Given the description of an element on the screen output the (x, y) to click on. 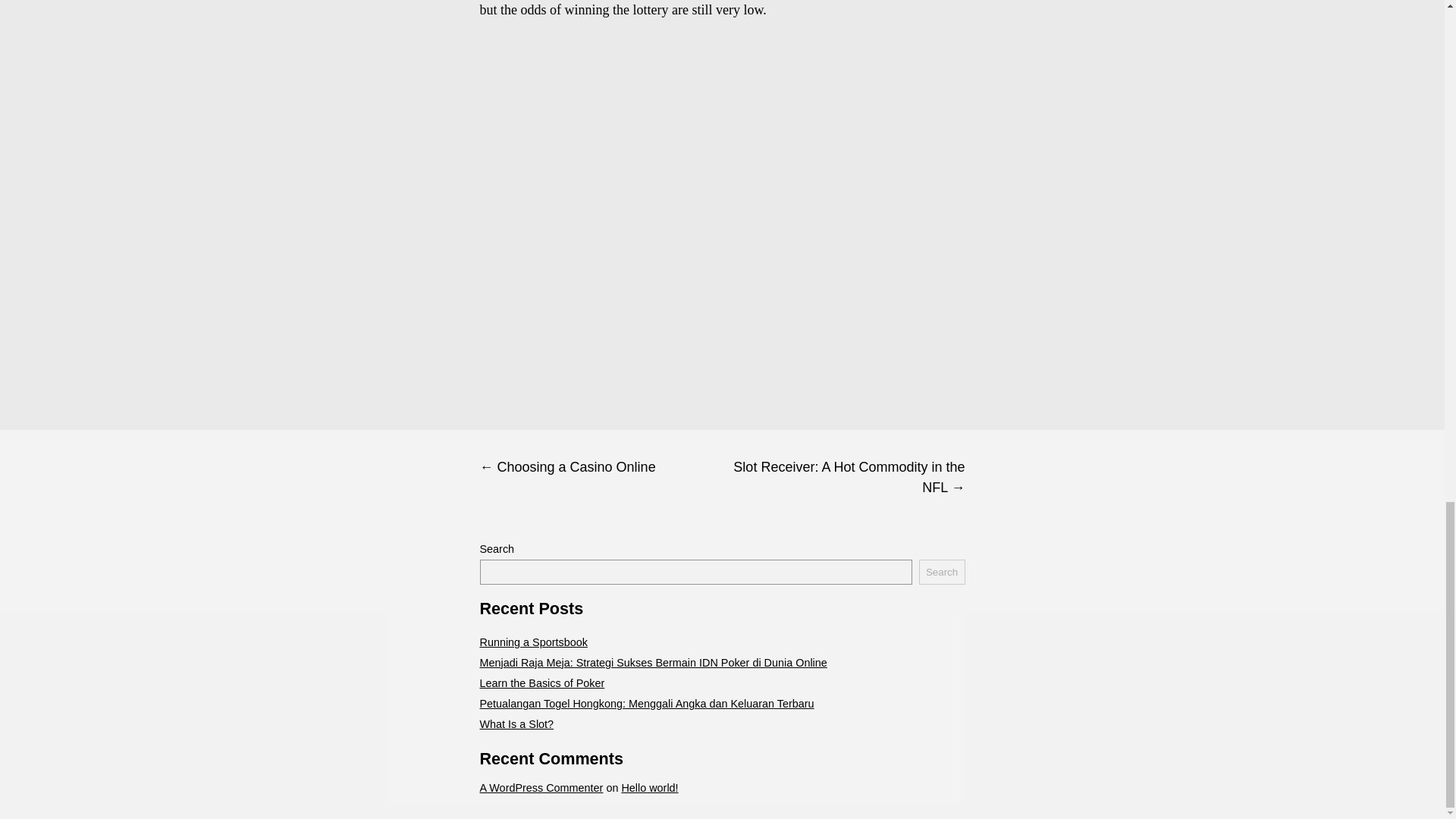
Running a Sportsbook (532, 642)
Choosing a Casino Online (600, 467)
Slot Receiver: A Hot Commodity in the NFL (842, 477)
Learn the Basics of Poker (541, 683)
A WordPress Commenter (540, 787)
What Is a Slot? (516, 724)
Search (941, 571)
Hello world! (649, 787)
